Given the description of an element on the screen output the (x, y) to click on. 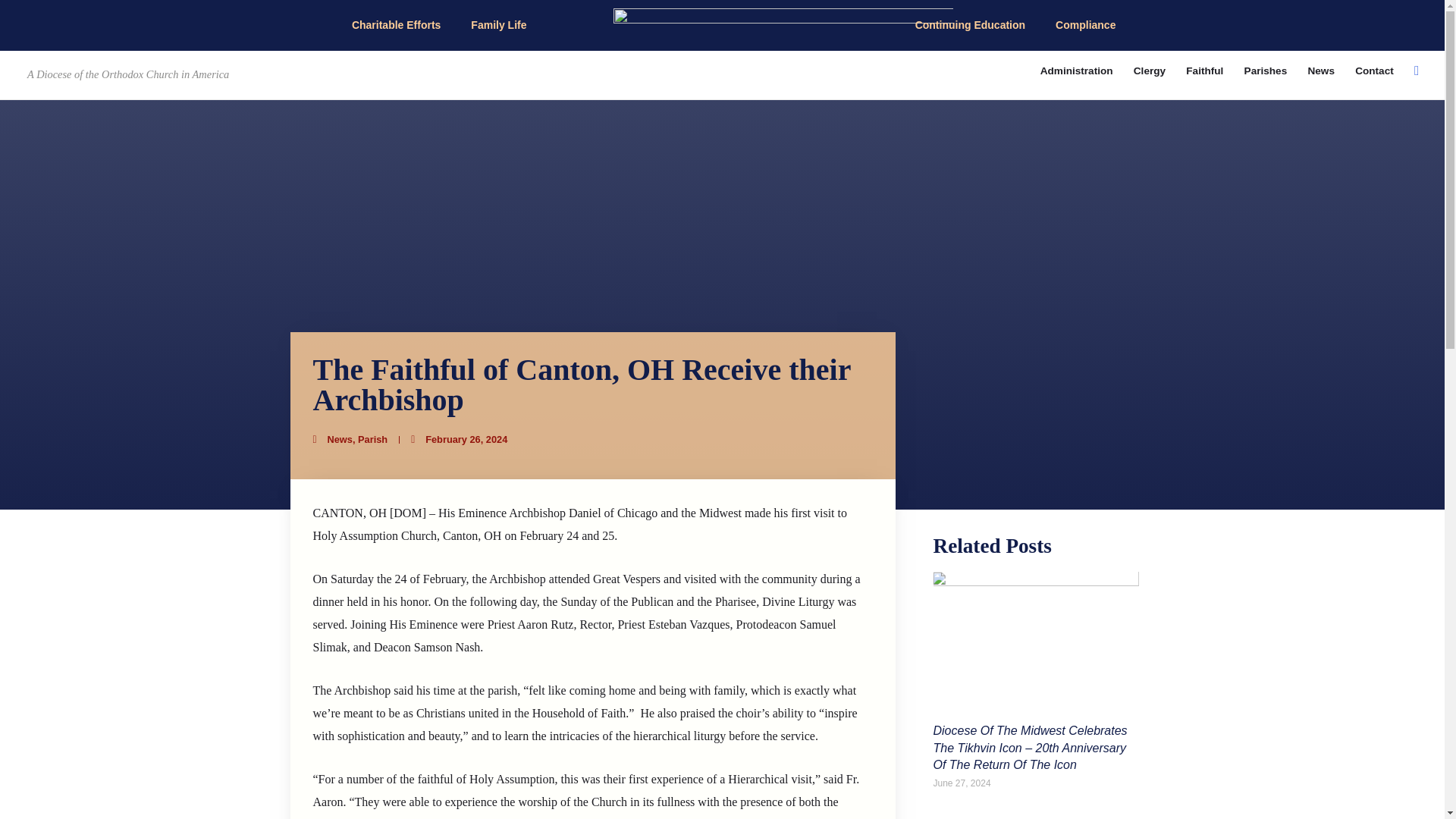
Compliance (1086, 24)
News (1321, 70)
Clergy (1149, 70)
Family Life (498, 24)
Contact (1375, 70)
Charitable Efforts (395, 24)
Parishes (1265, 70)
Administration (1075, 70)
Continuing Education (970, 24)
Faithful (1204, 70)
